Given the description of an element on the screen output the (x, y) to click on. 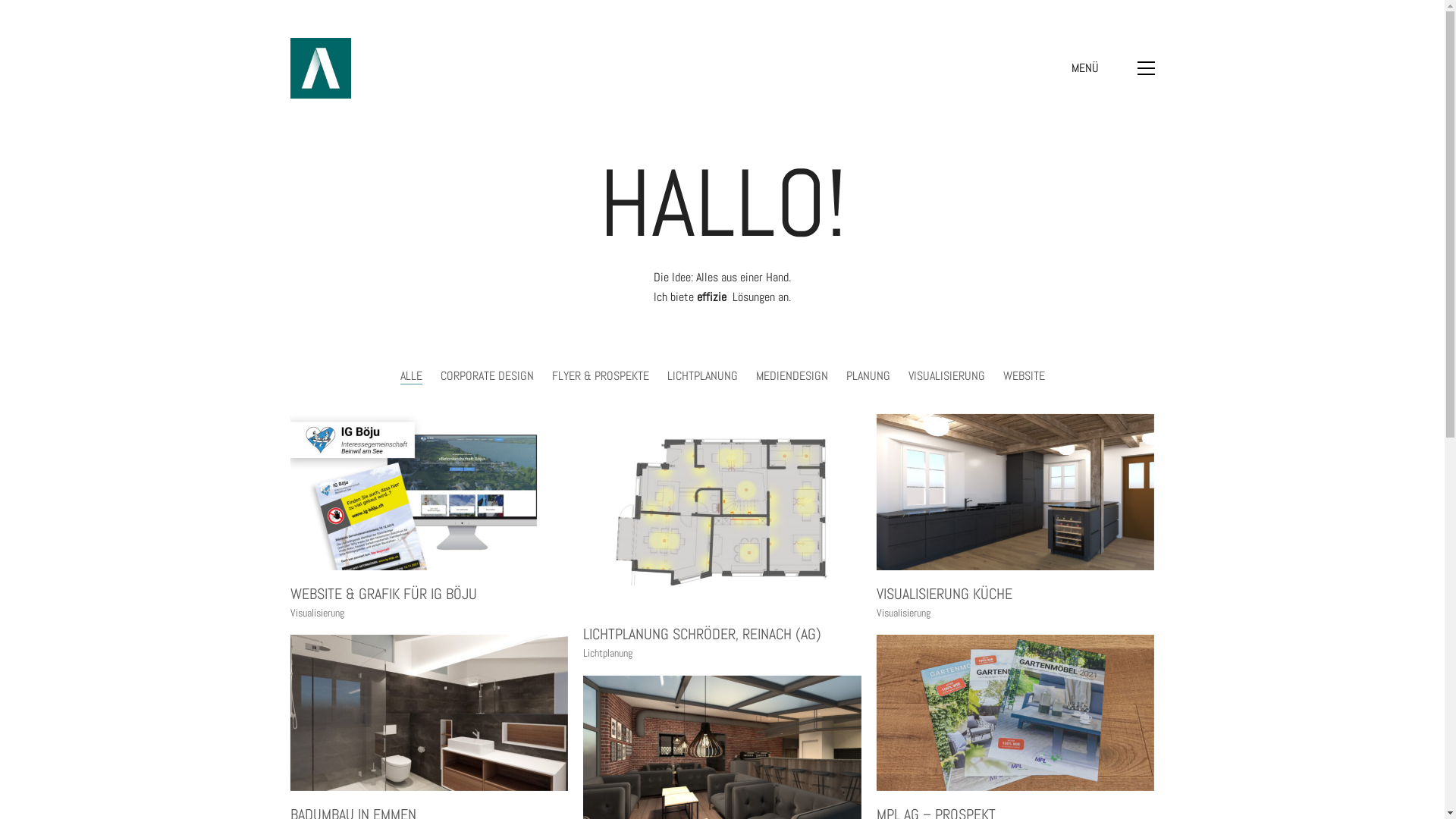
Lichtplanung Element type: text (607, 653)
Visualisierung Element type: text (903, 612)
Visualisierung Element type: text (316, 612)
CORPORATE DESIGN Element type: text (486, 374)
ALLE Element type: text (411, 374)
WEBSITE Element type: text (1023, 374)
FLYER & PROSPEKTE Element type: text (600, 374)
VISUALISIERUNG Element type: text (946, 374)
MEDIENDESIGN Element type: text (791, 374)
PLANUNG Element type: text (868, 374)
LICHTPLANUNG Element type: text (702, 374)
